Given the description of an element on the screen output the (x, y) to click on. 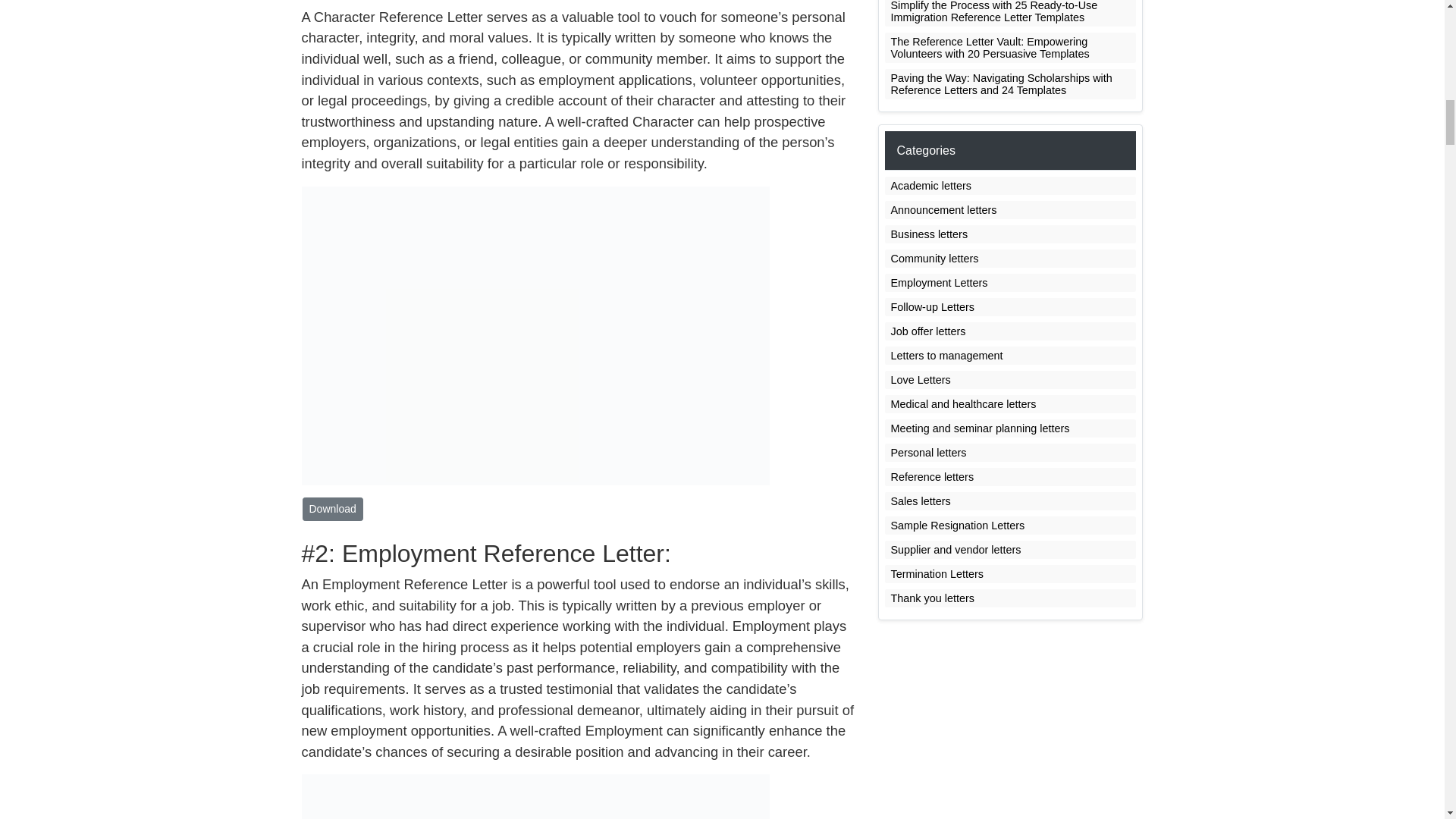
Download (331, 508)
